Given the description of an element on the screen output the (x, y) to click on. 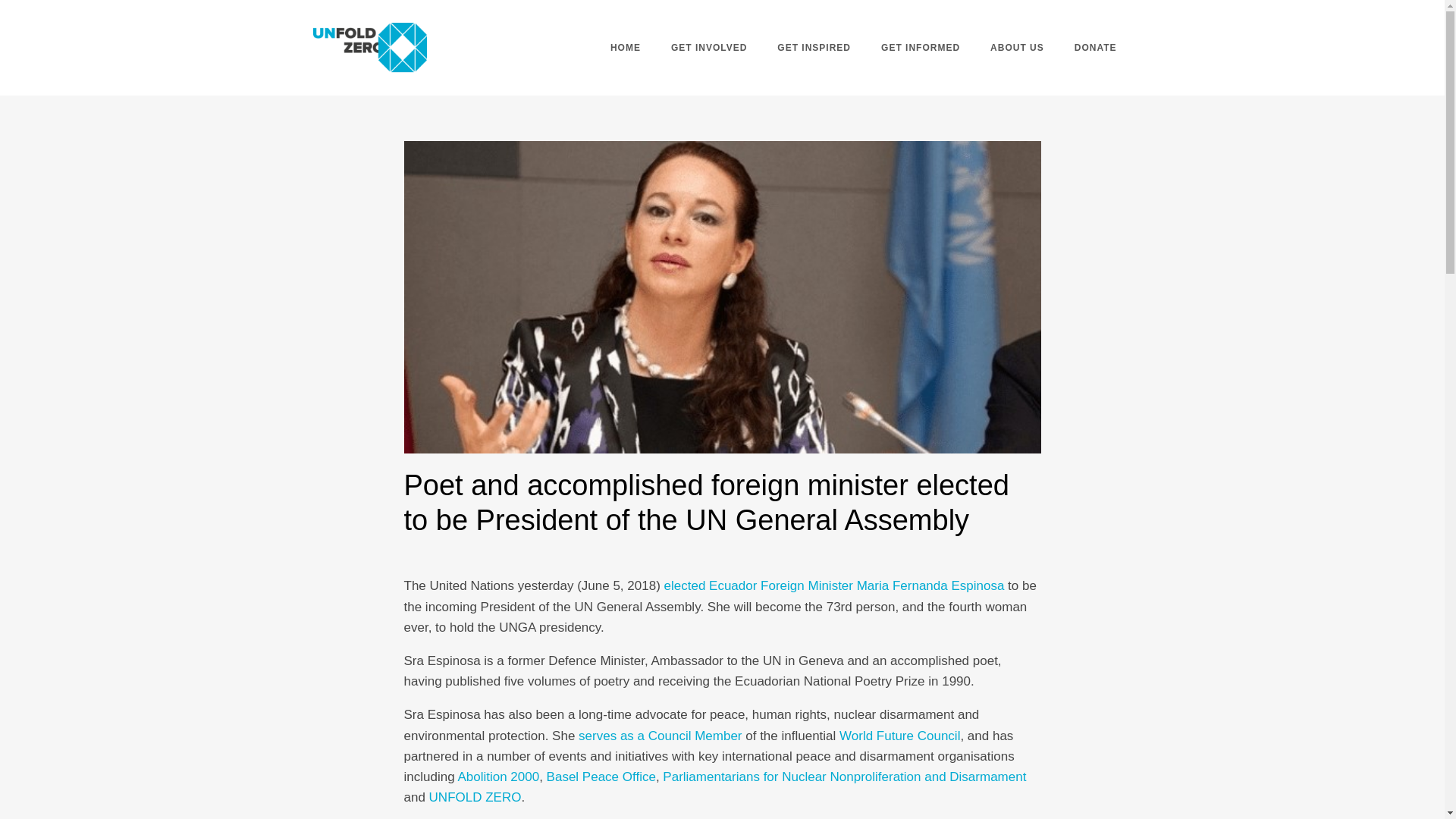
GET INFORMED (920, 47)
GET INSPIRED (813, 47)
DONATE (1095, 47)
GET INVOLVED (708, 47)
ABOUT US (1017, 47)
HOME (625, 47)
